Given the description of an element on the screen output the (x, y) to click on. 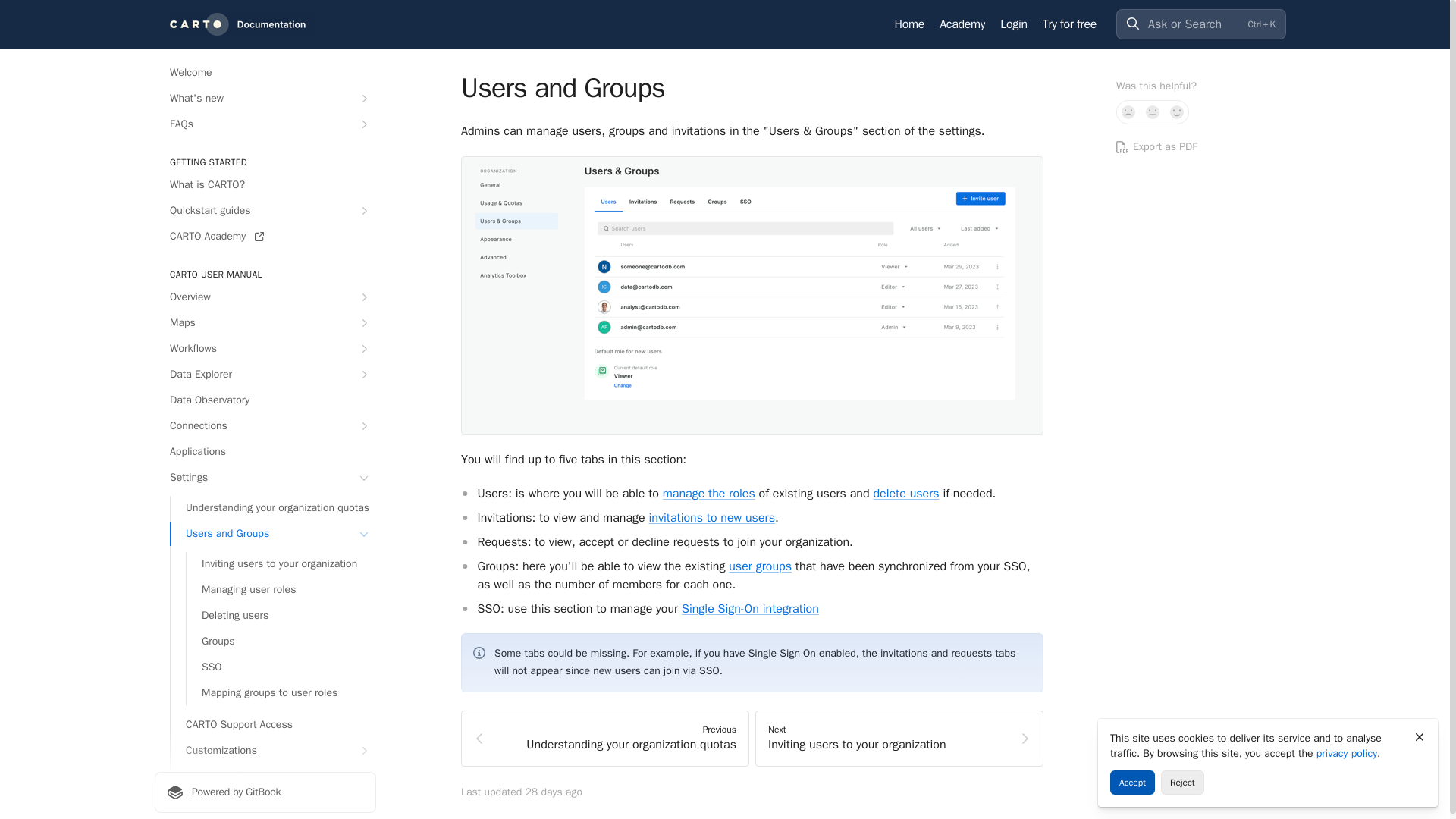
Welcome (264, 72)
No (1128, 111)
Not sure (1152, 111)
What's new (264, 98)
Academy (962, 24)
Close (1419, 737)
Try for free (1069, 24)
FAQs (264, 124)
Yes, it was! (1176, 111)
What is CARTO? (264, 184)
